Given the description of an element on the screen output the (x, y) to click on. 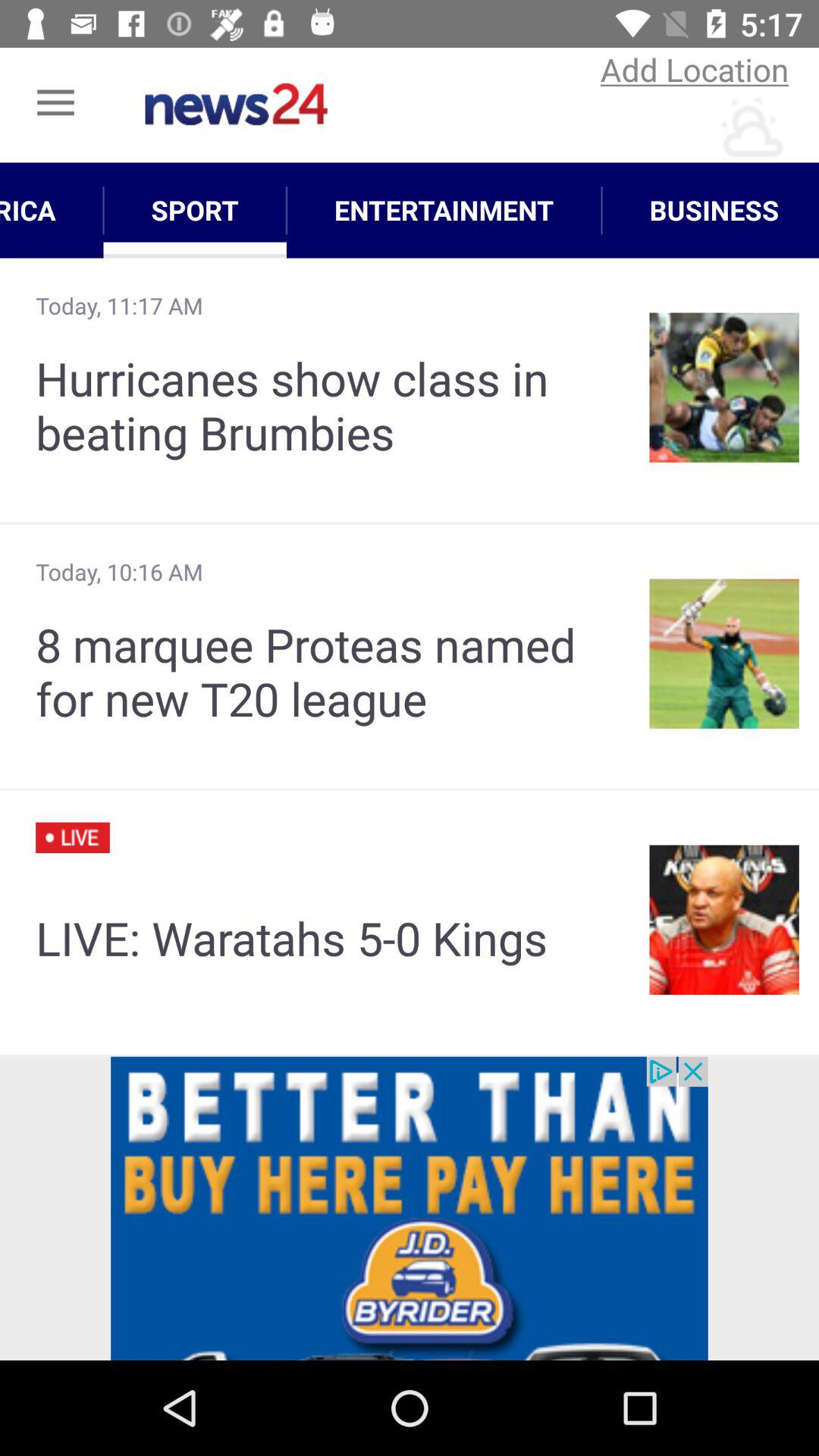
add the option (409, 1208)
